Given the description of an element on the screen output the (x, y) to click on. 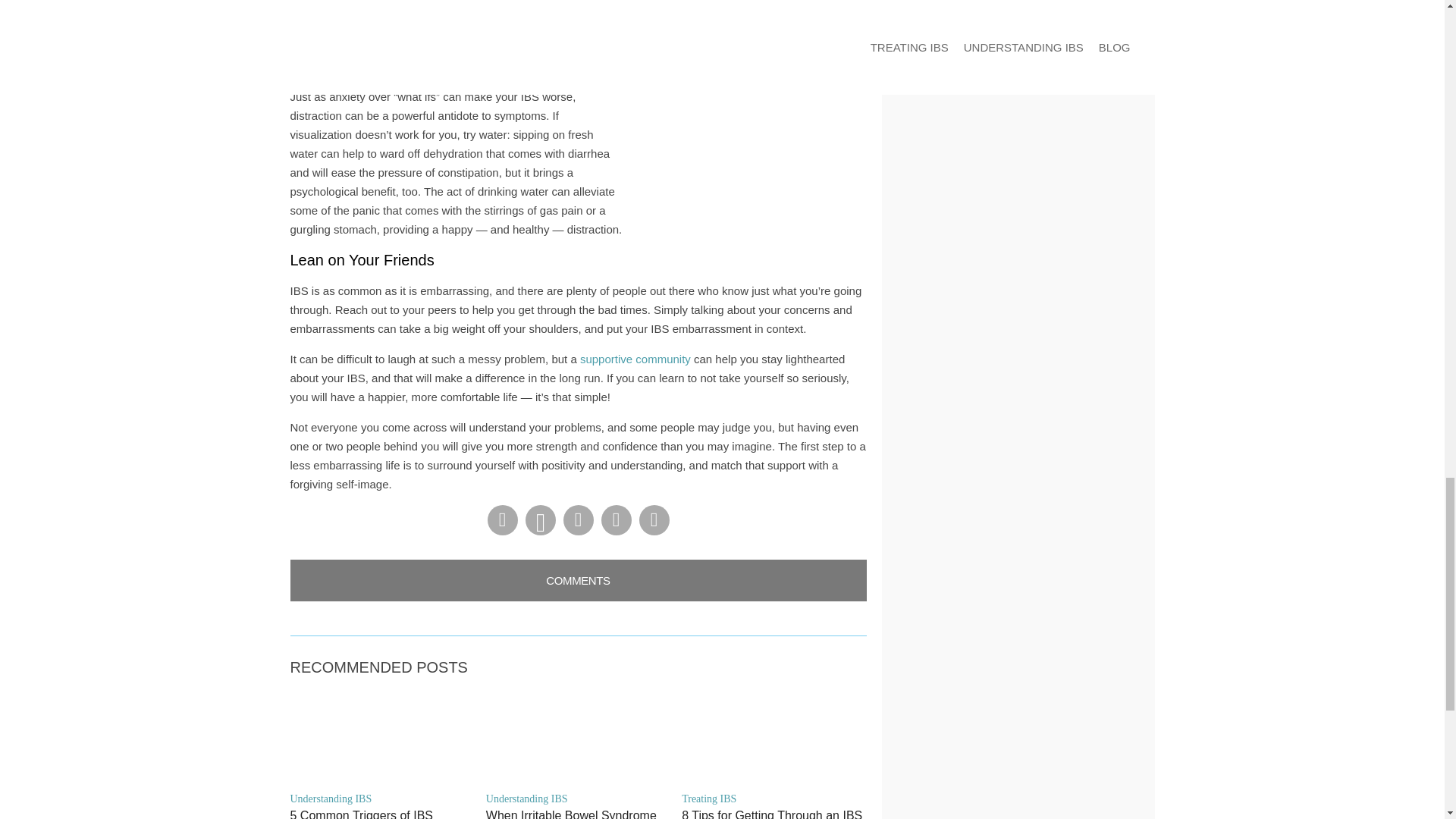
Understanding IBS (381, 798)
COMMENTS (577, 580)
supportive community (634, 358)
When Irritable Bowel Syndrome and Constipation Interact (577, 813)
Pinterest (539, 520)
5 Common Triggers of IBS (381, 813)
Twitter (614, 520)
Messenger (577, 520)
Treating IBS (773, 798)
Understanding IBS (577, 798)
Facebook (501, 520)
8 Tips for Getting Through an IBS Flare-Up (773, 813)
Email (653, 520)
